Given the description of an element on the screen output the (x, y) to click on. 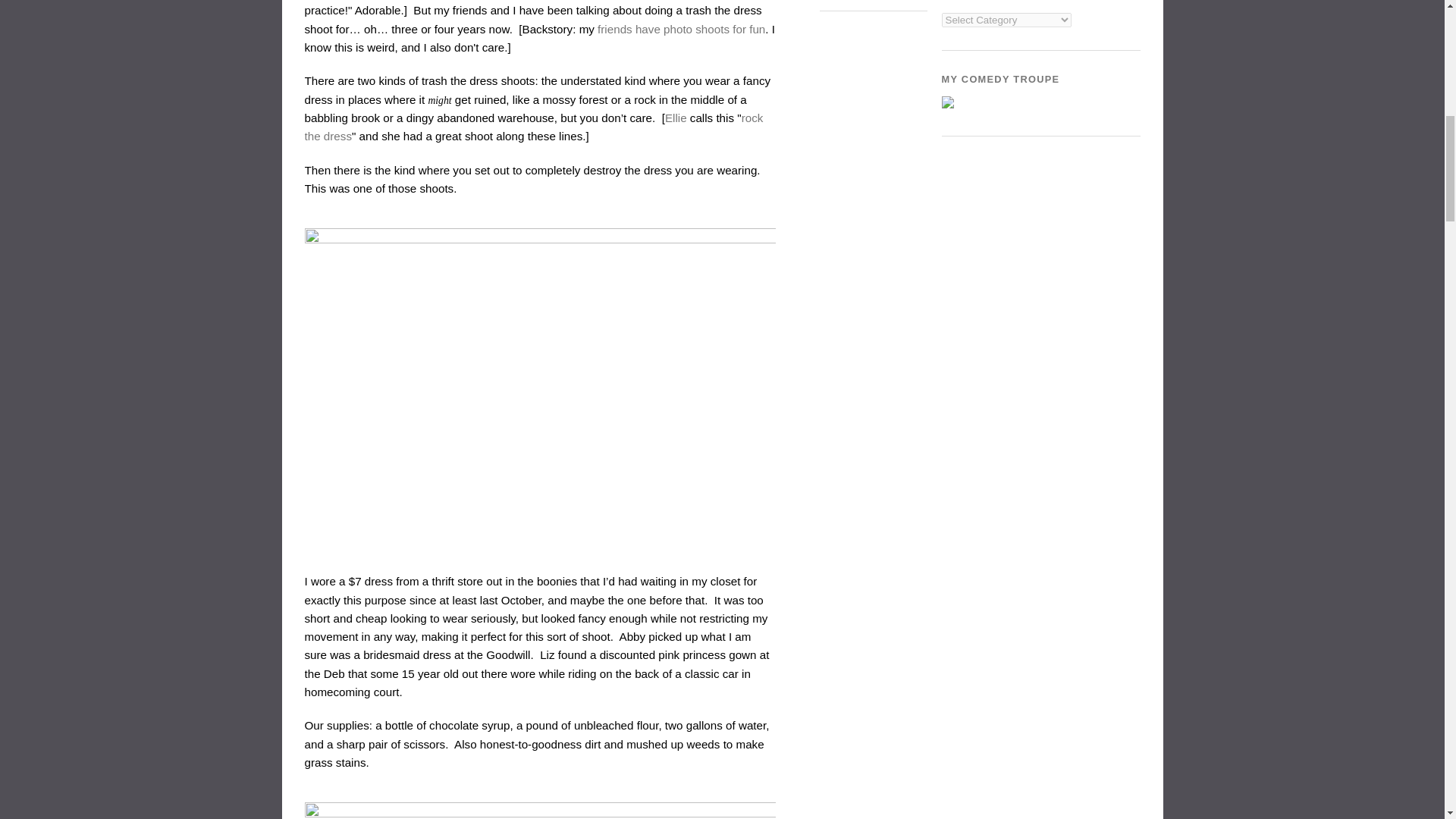
Ellie (676, 117)
rock the dress (533, 126)
friends have photo shoots for fun (680, 29)
